Given the description of an element on the screen output the (x, y) to click on. 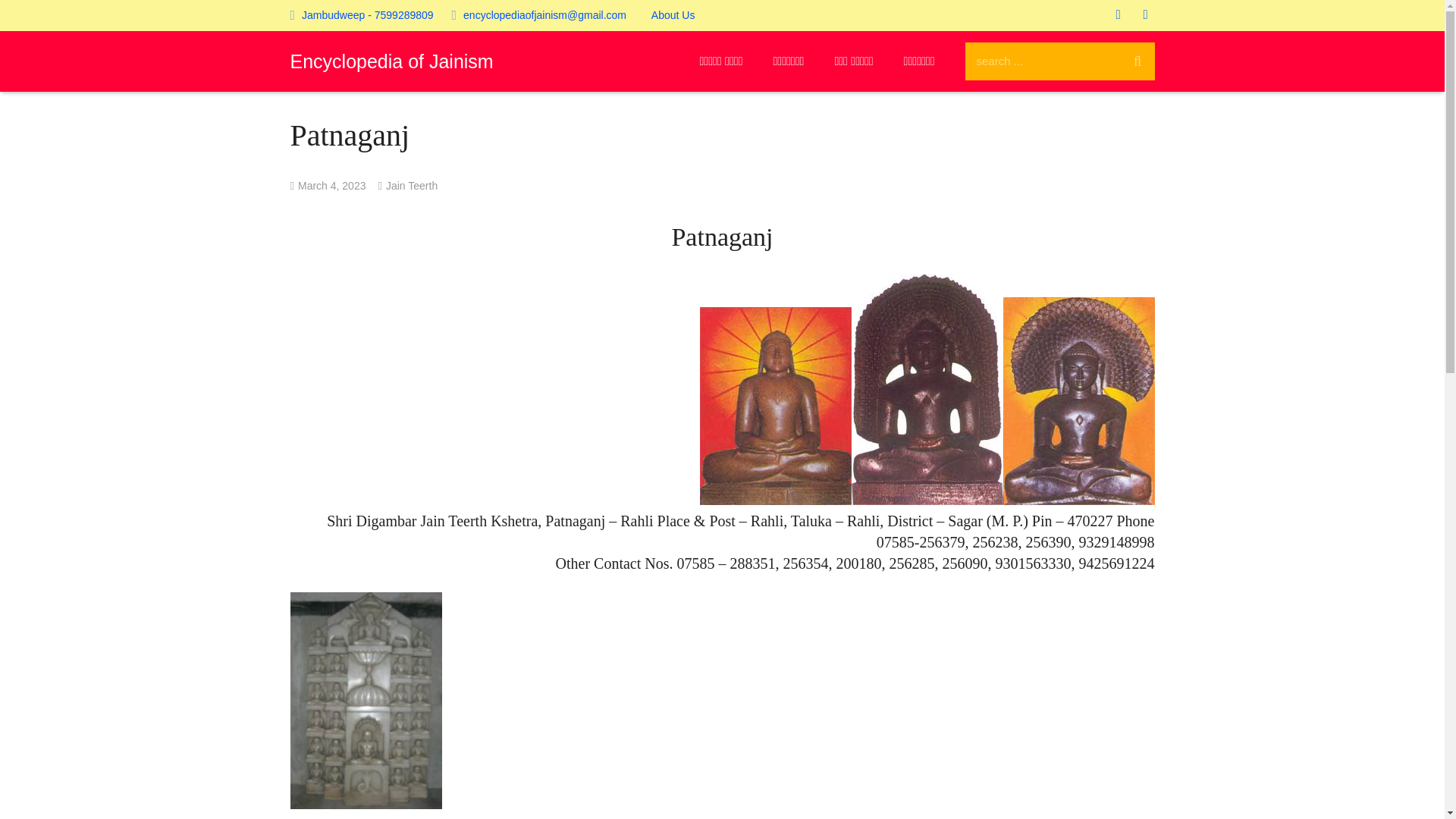
Jain Teerth (411, 185)
About Us (672, 15)
Encyclopedia of Jainism (391, 61)
